Given the description of an element on the screen output the (x, y) to click on. 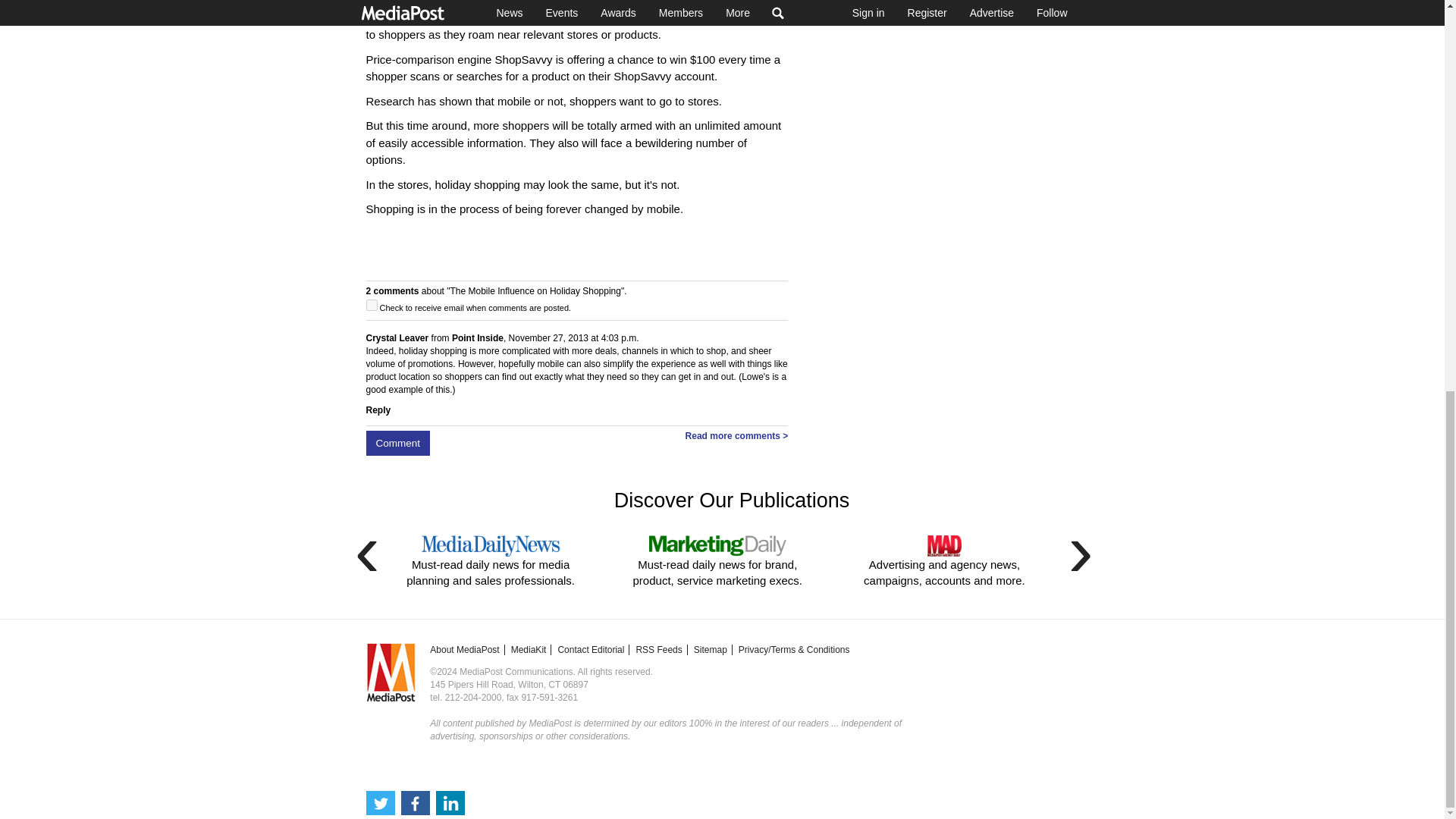
Share on LinkedIn (449, 56)
Share on Twitter (379, 56)
on (371, 305)
Share on Facebook (414, 56)
